Given the description of an element on the screen output the (x, y) to click on. 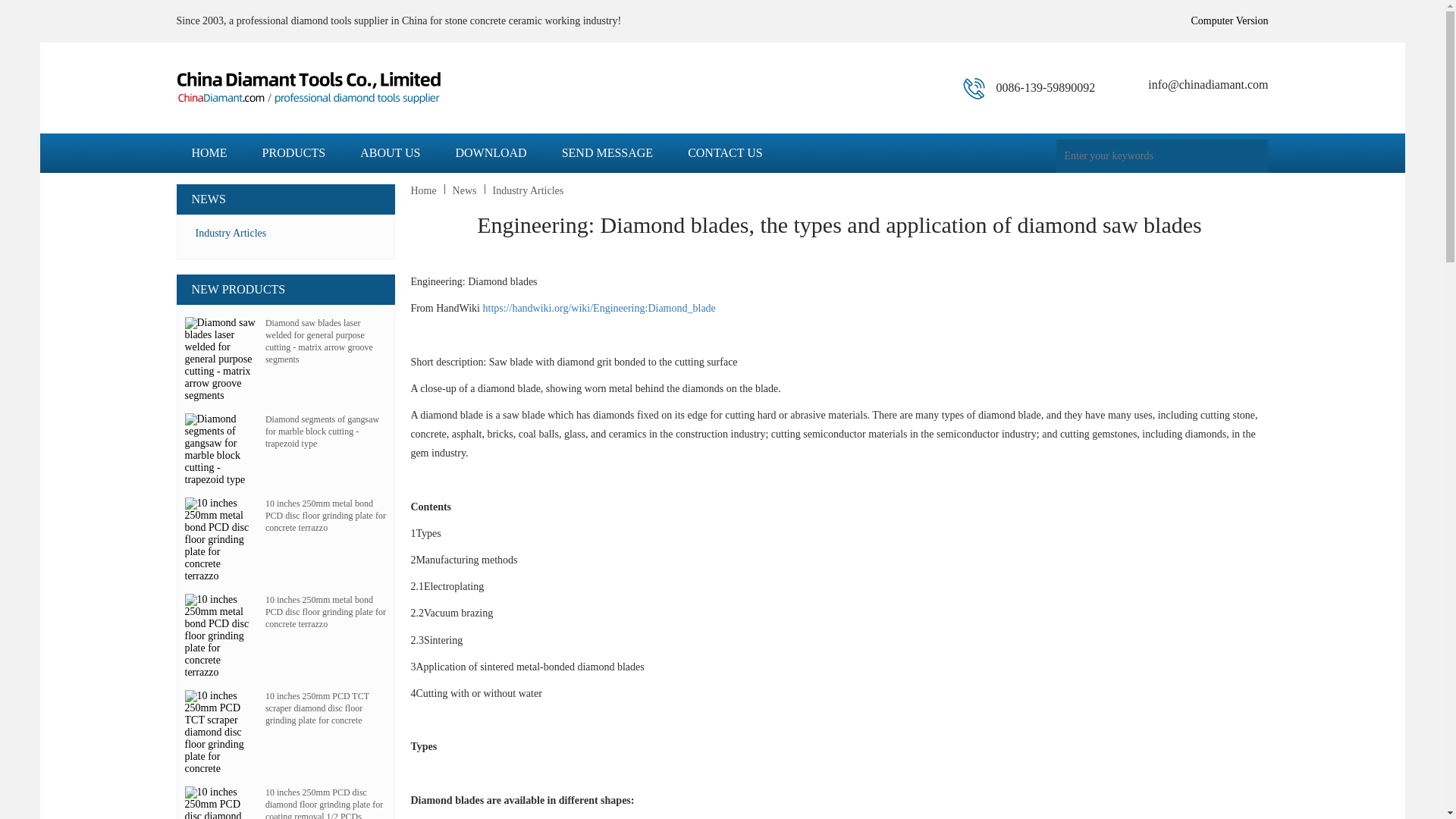
Computer Version (1229, 20)
HOME (208, 165)
PRODUCTS (294, 165)
